Given the description of an element on the screen output the (x, y) to click on. 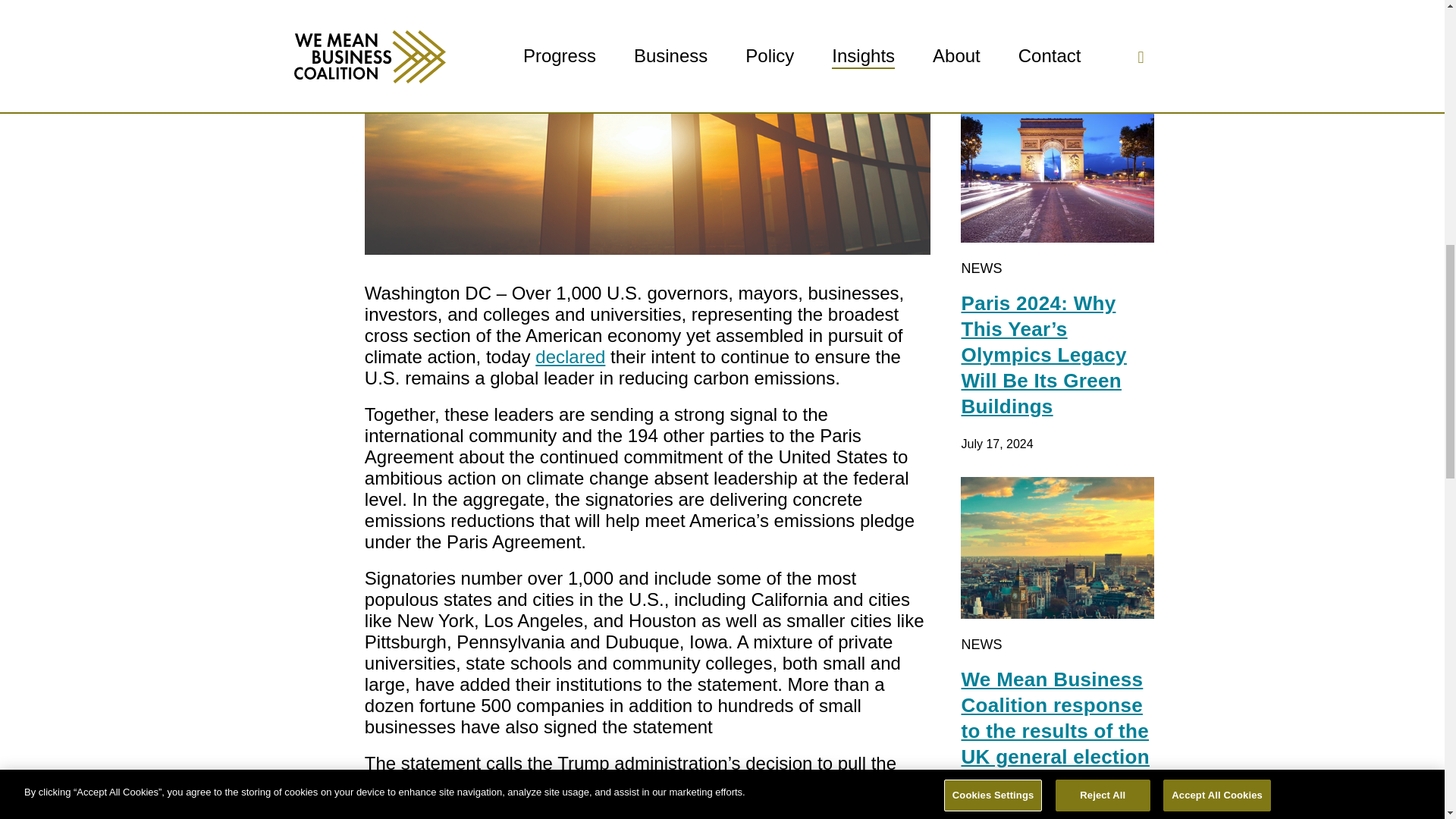
declared (570, 356)
